Given the description of an element on the screen output the (x, y) to click on. 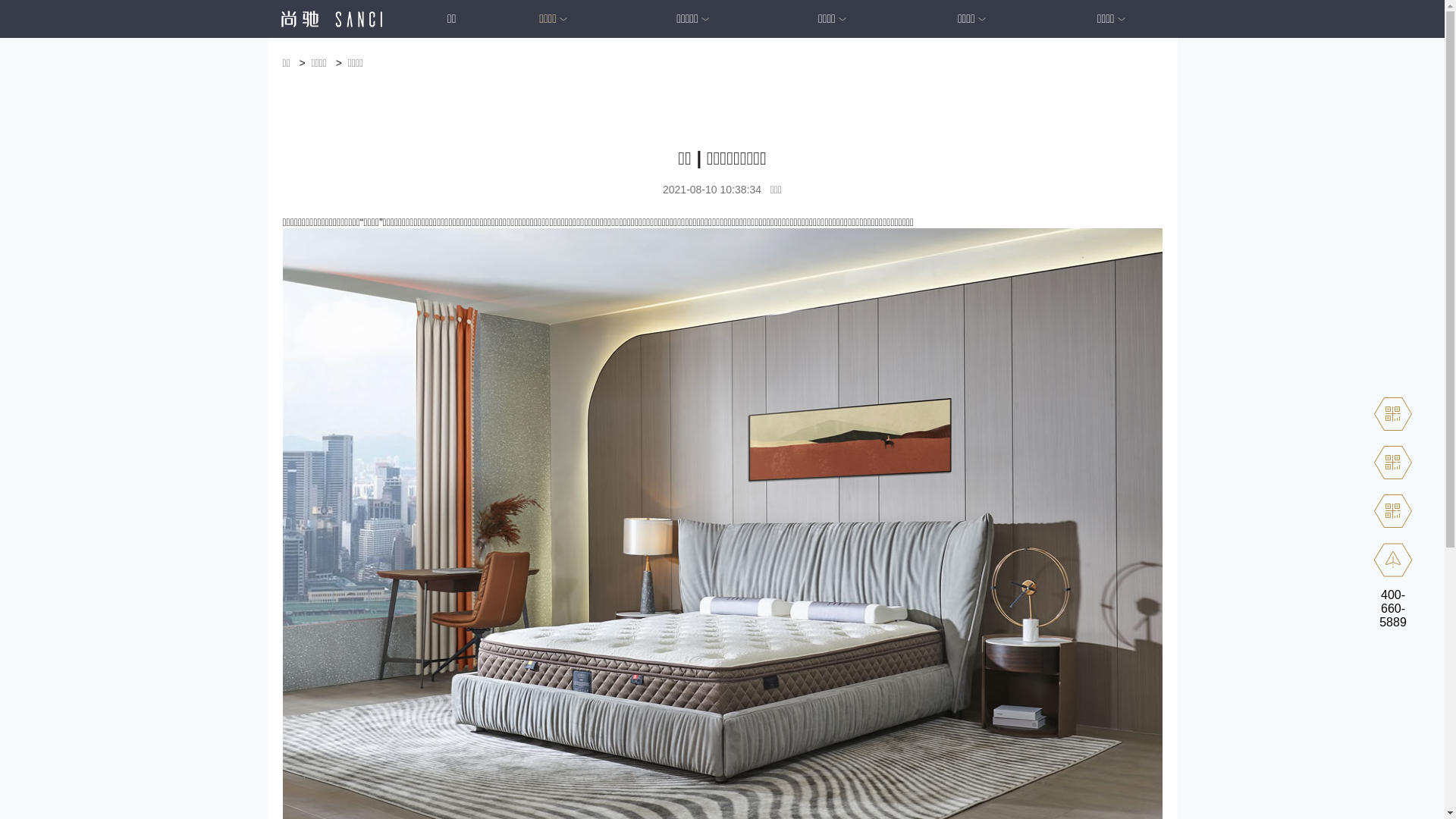
400-660-5889 Element type: text (1392, 607)
  Element type: text (305, 18)
  Element type: text (330, 18)
